Given the description of an element on the screen output the (x, y) to click on. 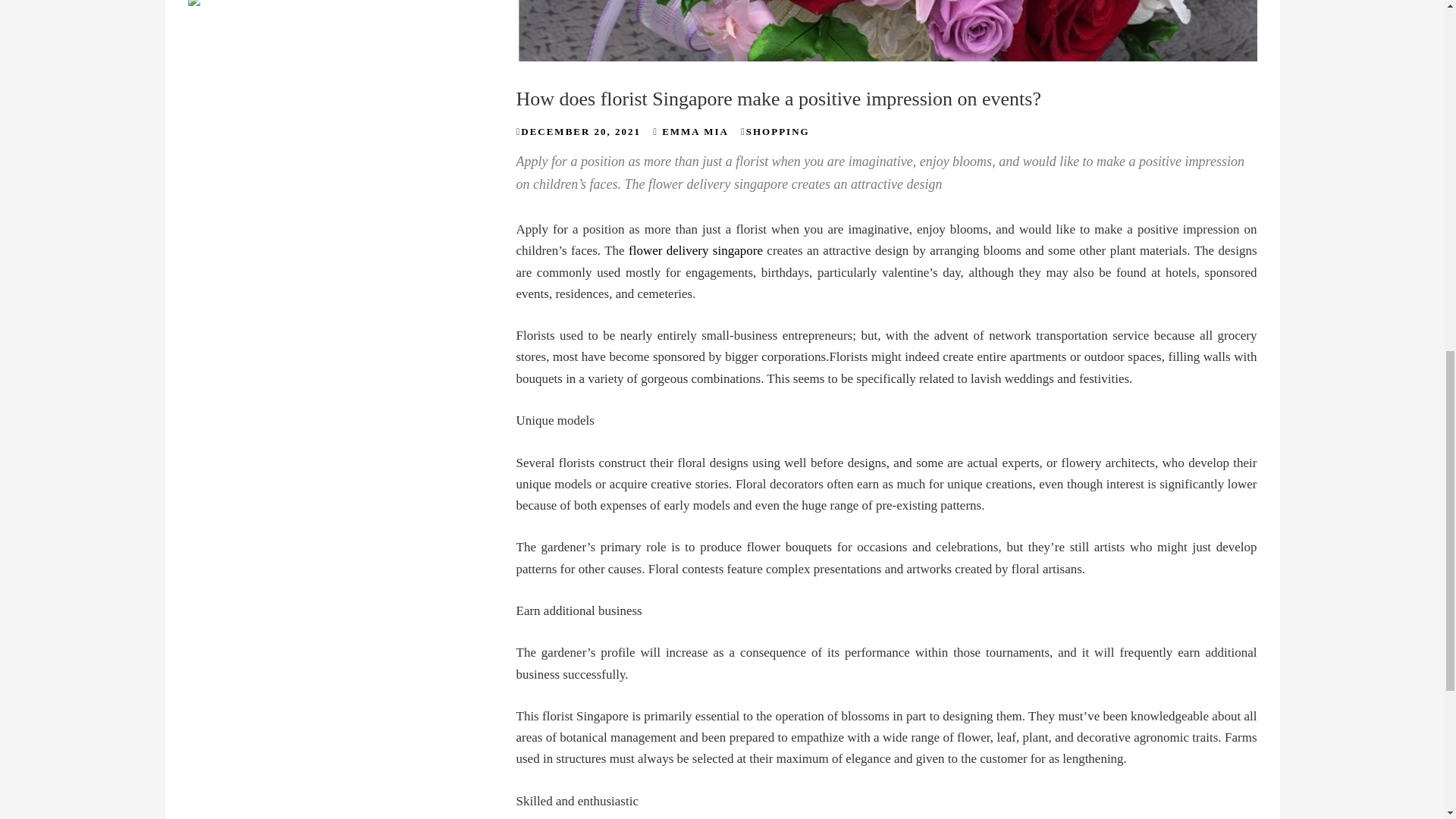
SHOPPING (777, 131)
flower delivery singapore (695, 250)
DECEMBER 20, 2021 (580, 131)
EMMA MIA (695, 131)
